Given the description of an element on the screen output the (x, y) to click on. 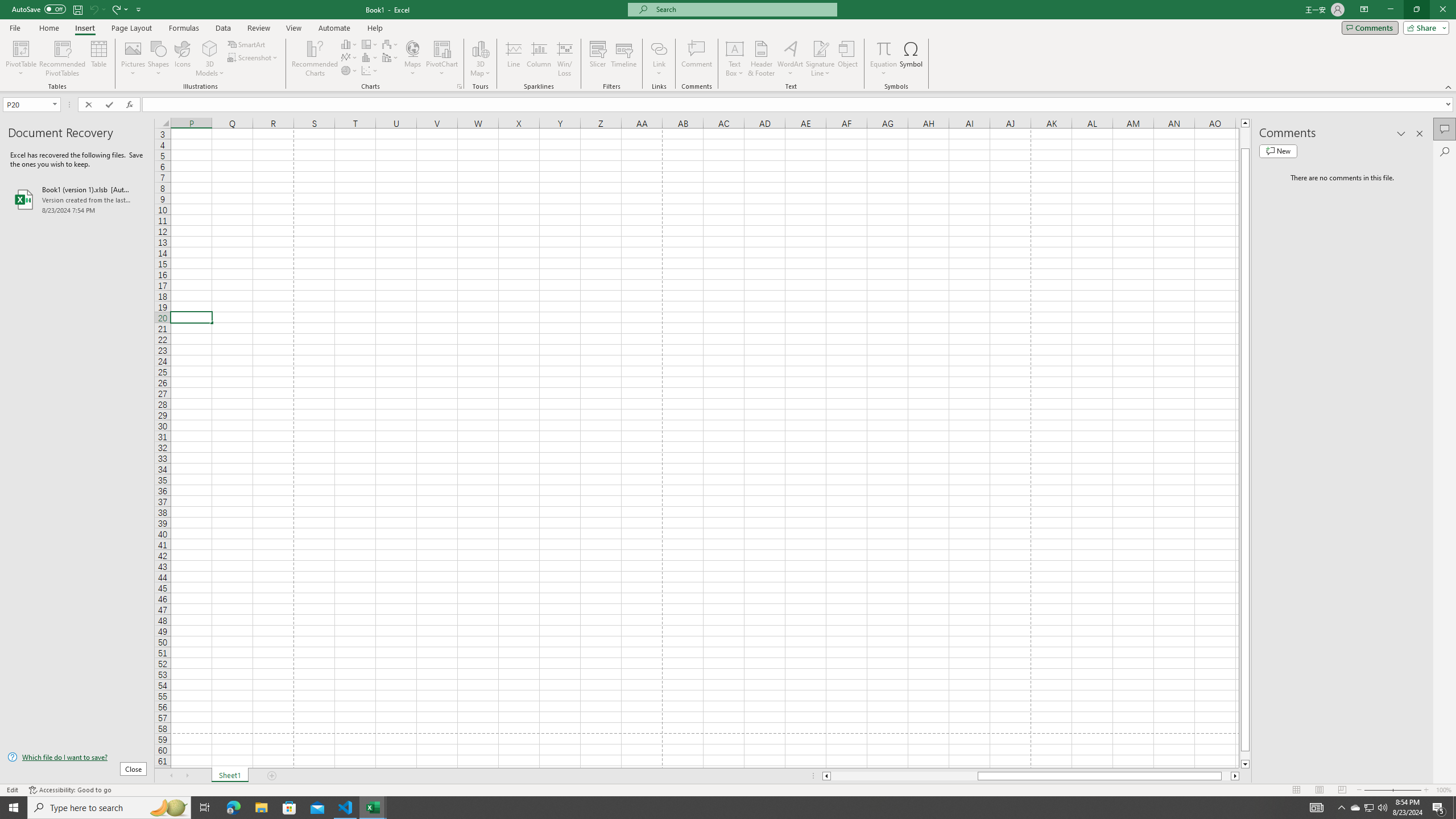
Comment (696, 58)
Equation (883, 48)
